Given the description of an element on the screen output the (x, y) to click on. 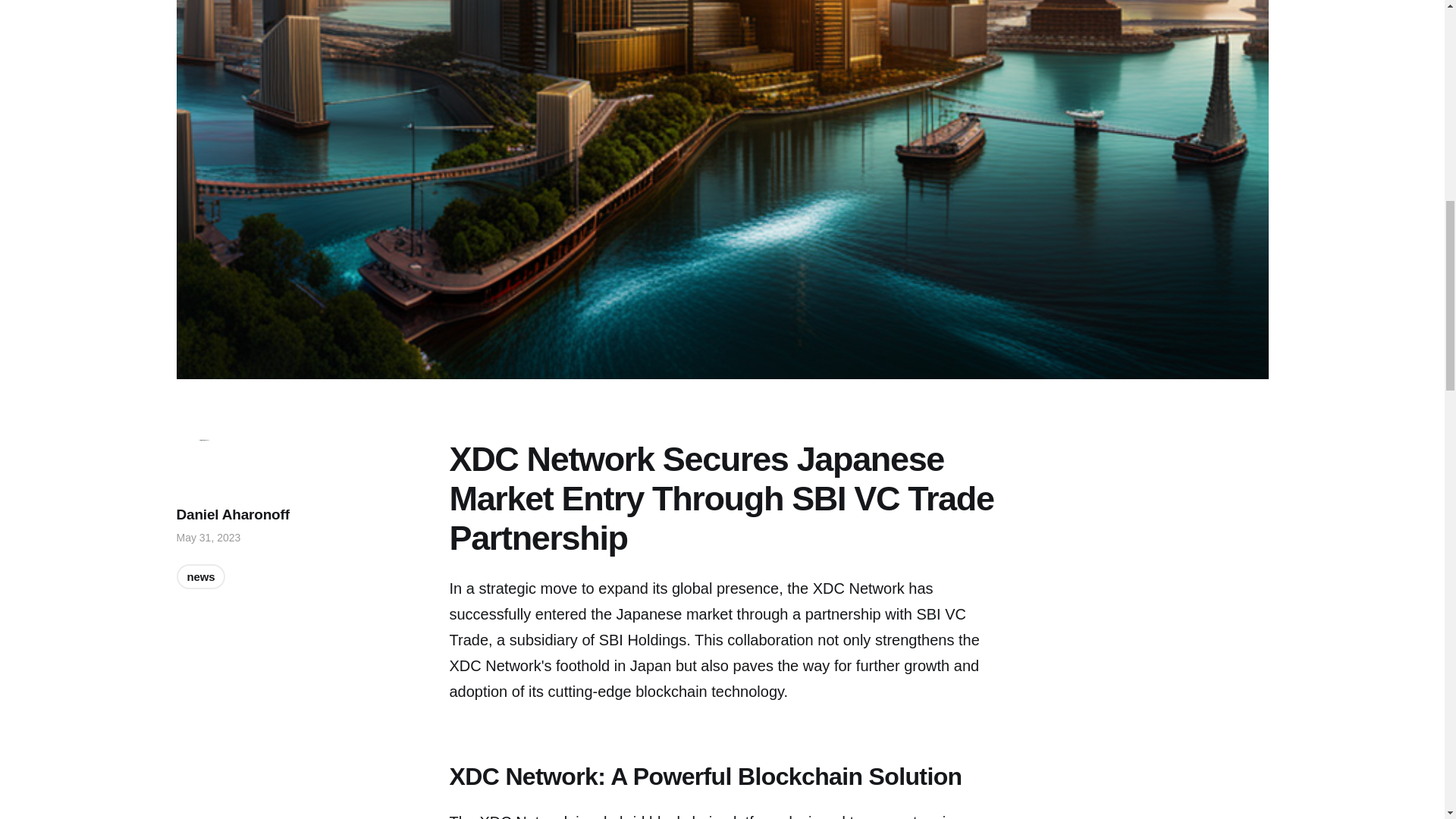
news (200, 576)
Daniel Aharonoff (232, 514)
